Given the description of an element on the screen output the (x, y) to click on. 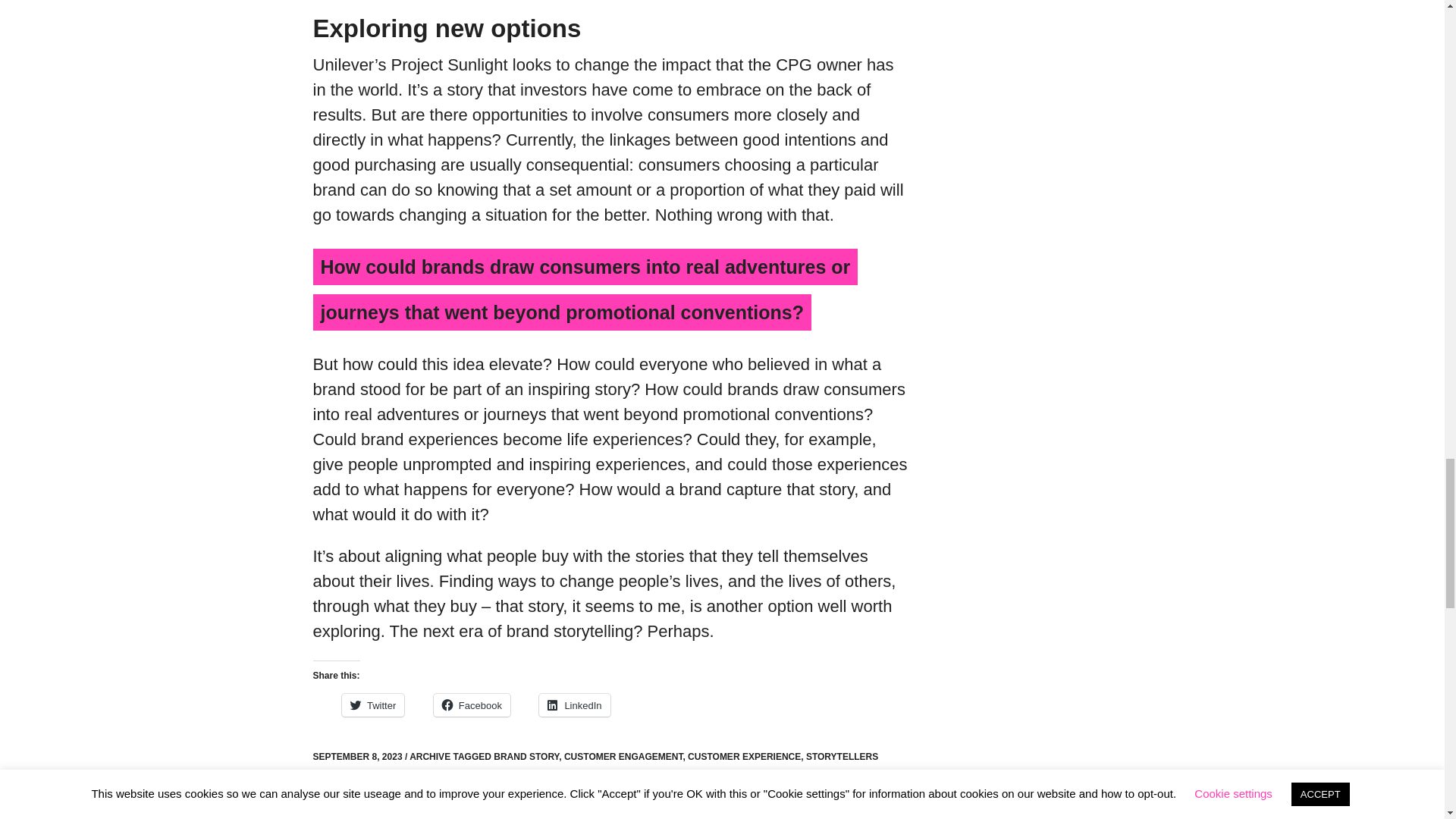
STORYTELLERS (841, 756)
Click to share on LinkedIn (574, 704)
CUSTOMER EXPERIENCE (743, 756)
Click to share on Facebook (472, 704)
ARCHIVE (429, 756)
Facebook (472, 704)
LinkedIn (574, 704)
CUSTOMER ENGAGEMENT (623, 756)
Click to share on Twitter (373, 704)
BRAND STORY (526, 756)
